Given the description of an element on the screen output the (x, y) to click on. 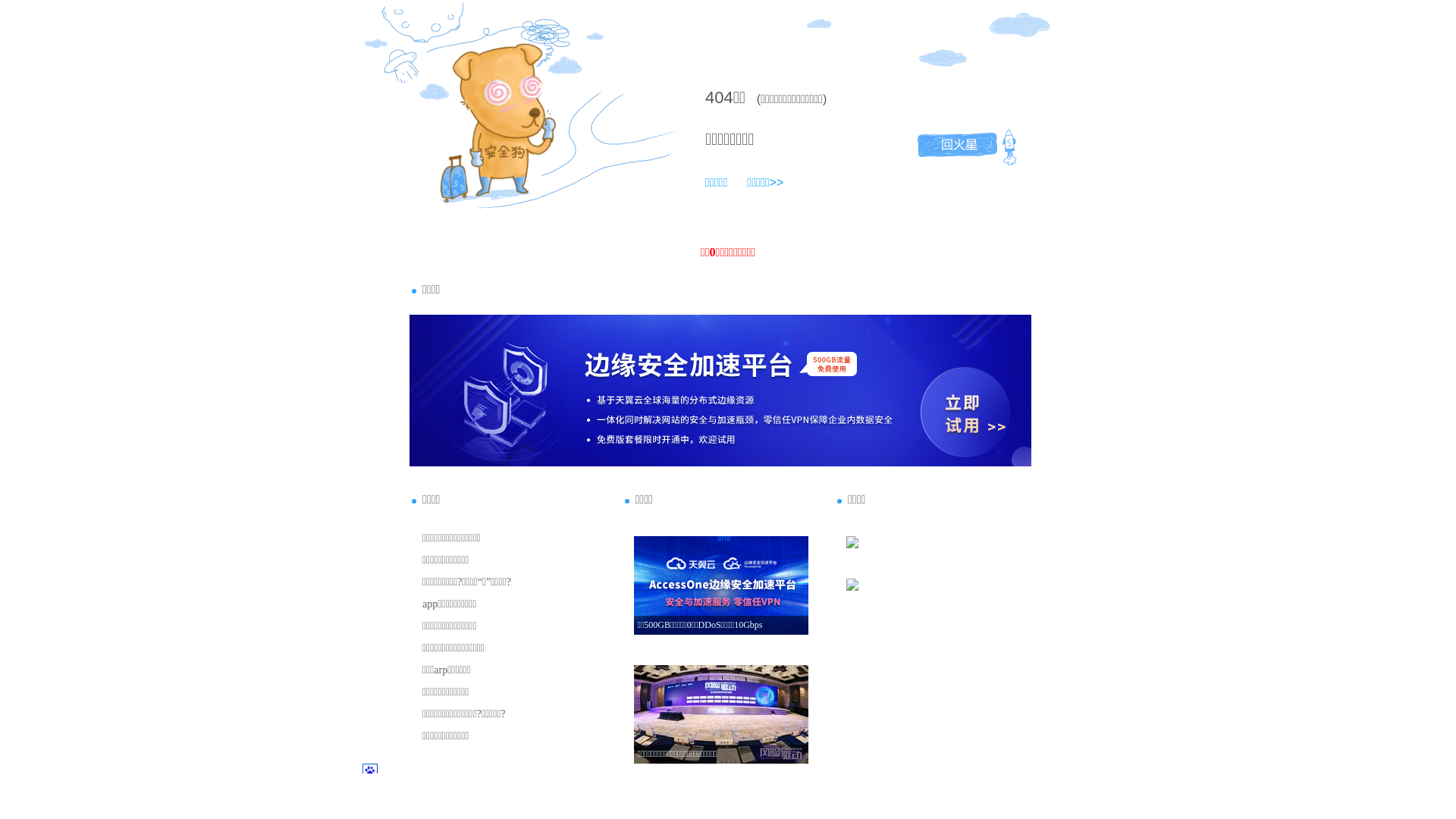
404 Element type: text (719, 96)
